Given the description of an element on the screen output the (x, y) to click on. 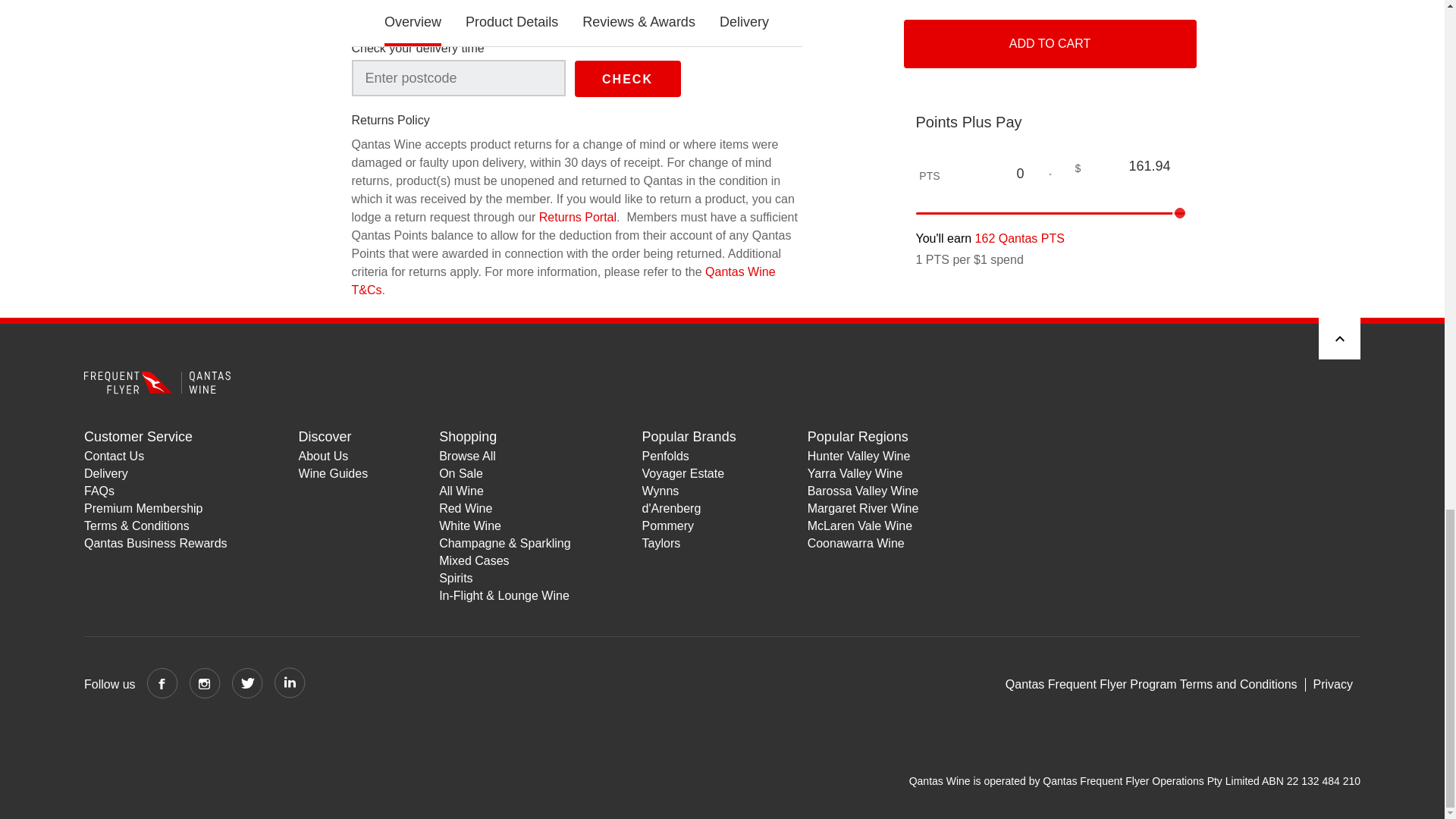
All Wine (504, 490)
CHECK (628, 78)
delivery (483, 12)
Contact Us (155, 456)
Qantas Business Rewards (155, 543)
Wine Guides (333, 473)
FAQs (155, 490)
Browse All (504, 456)
Red Wine (504, 507)
Returns Portal (576, 216)
